Given the description of an element on the screen output the (x, y) to click on. 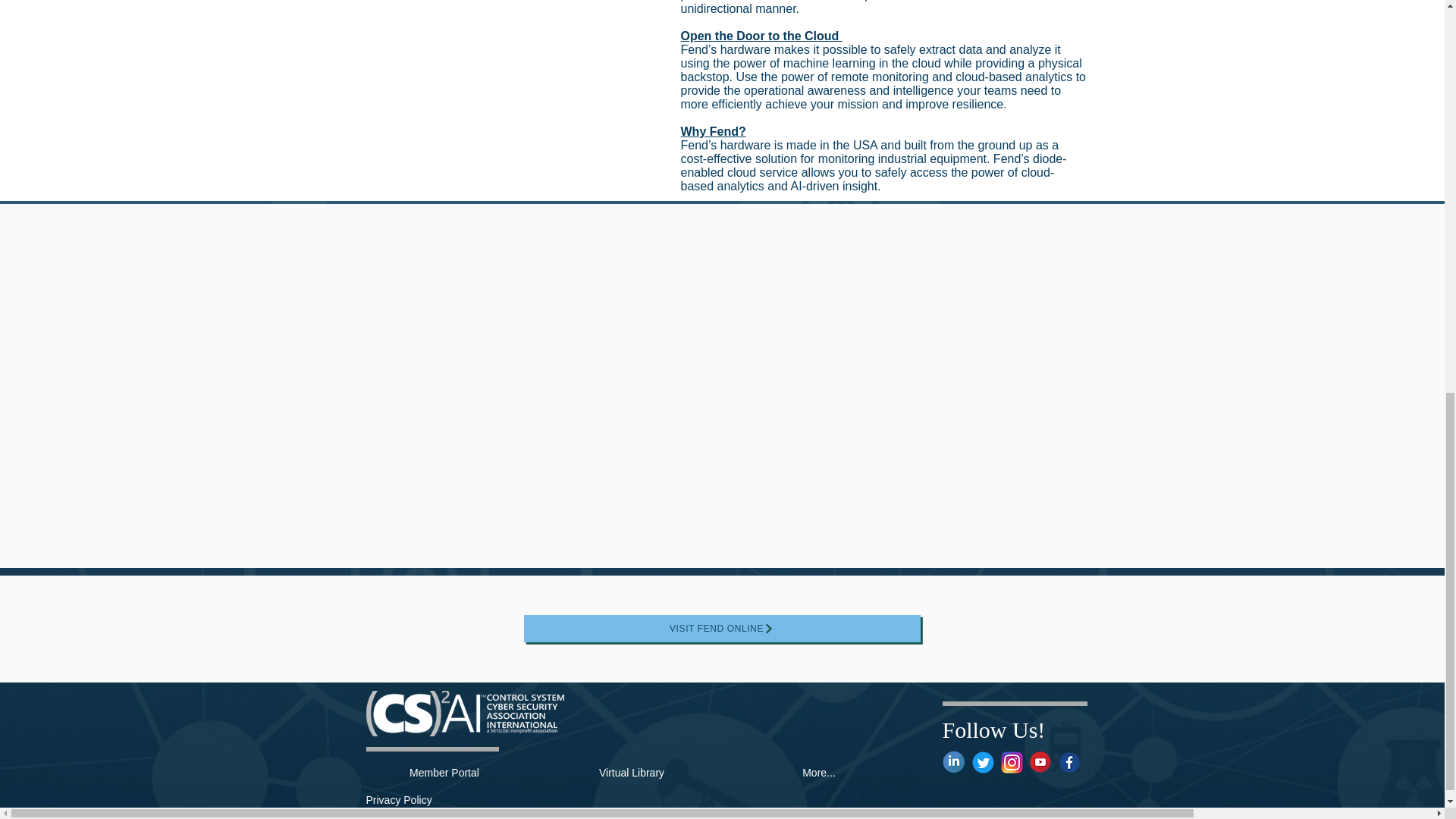
VISIT FEND ONLINE (721, 628)
